Given the description of an element on the screen output the (x, y) to click on. 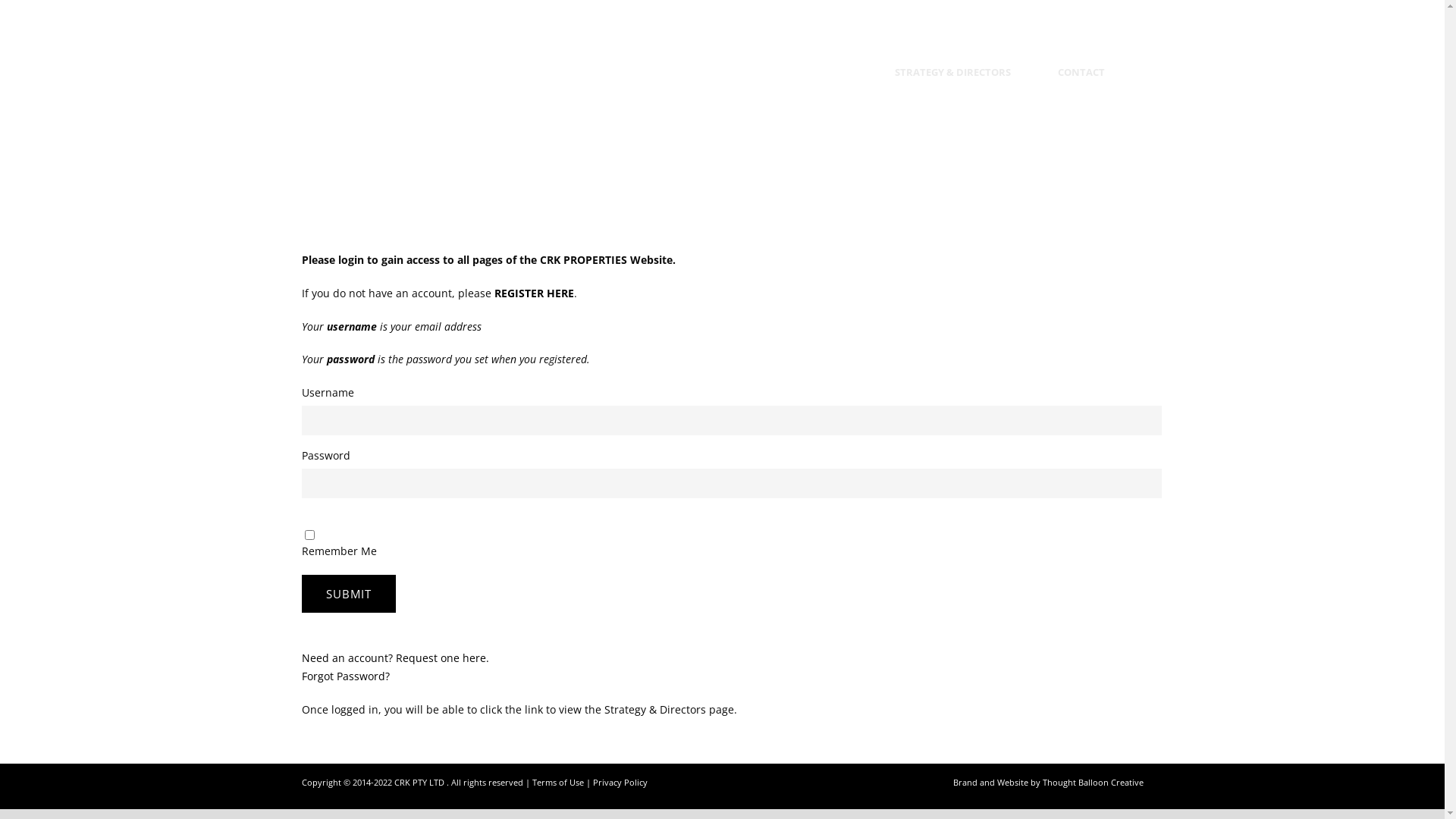
CONTACT Element type: text (1072, 83)
Submit Element type: text (348, 593)
Need an account? Request one here. Element type: text (395, 657)
STRATEGY & DIRECTORS Element type: text (952, 83)
REGISTER HERE Element type: text (534, 292)
Privacy Policy Element type: text (620, 781)
Forgot Password? Element type: text (345, 675)
Terms of Use Element type: text (557, 781)
Brand and Website by Thought Balloon Creative Element type: text (1047, 781)
